Given the description of an element on the screen output the (x, y) to click on. 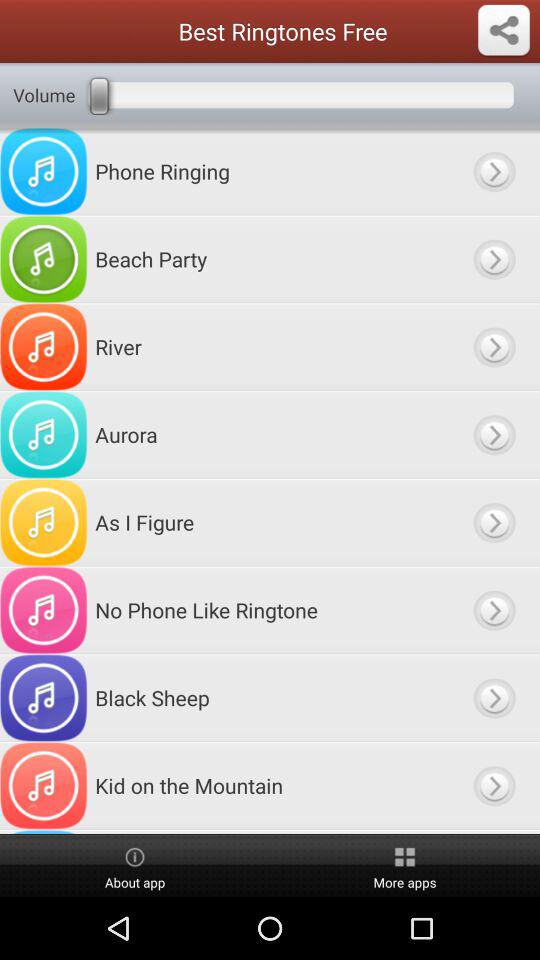
beach party option (494, 259)
